Given the description of an element on the screen output the (x, y) to click on. 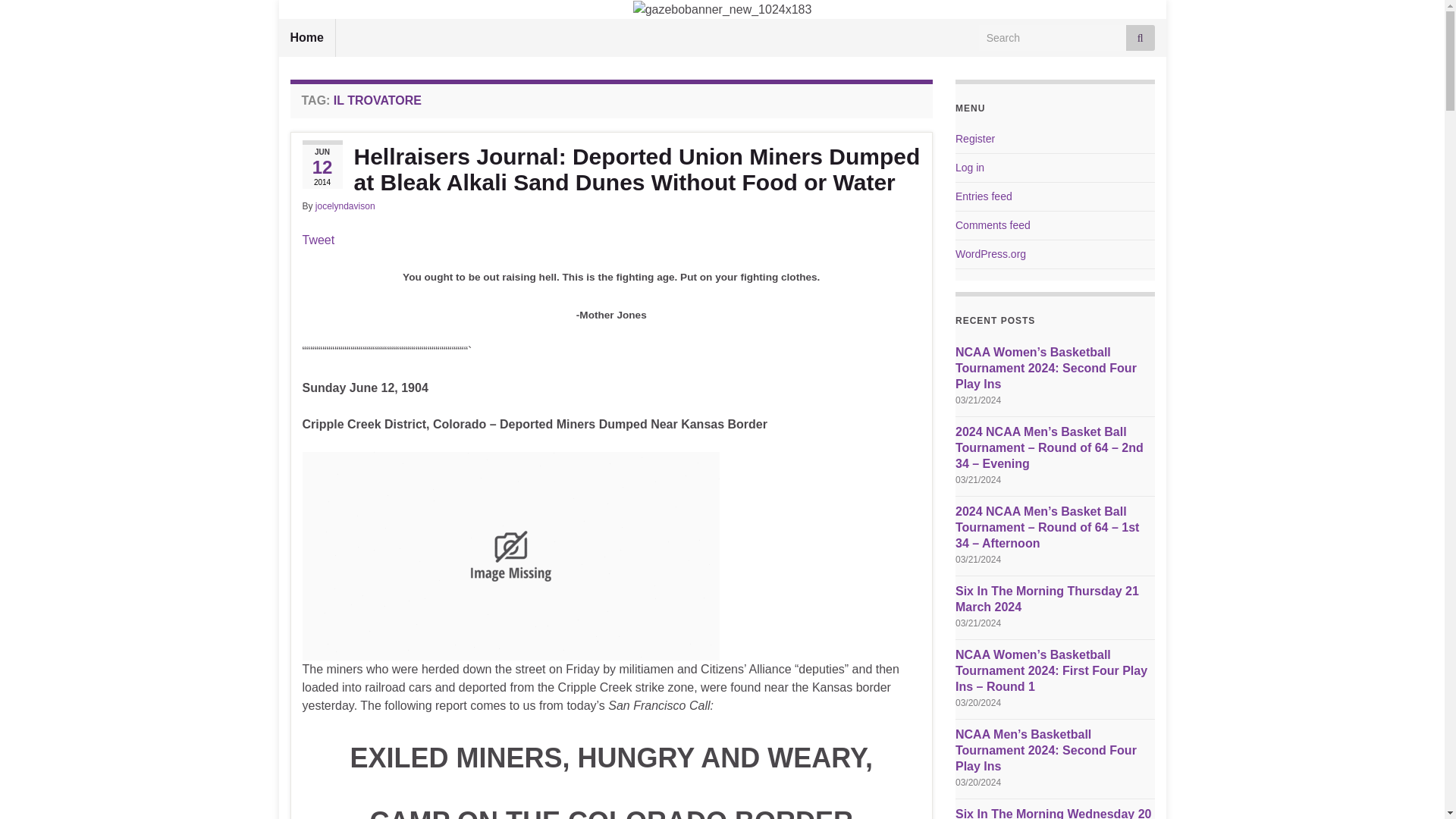
Tweet (317, 239)
Home (306, 37)
jocelyndavison (345, 205)
Log in (969, 167)
Register (974, 138)
